Given the description of an element on the screen output the (x, y) to click on. 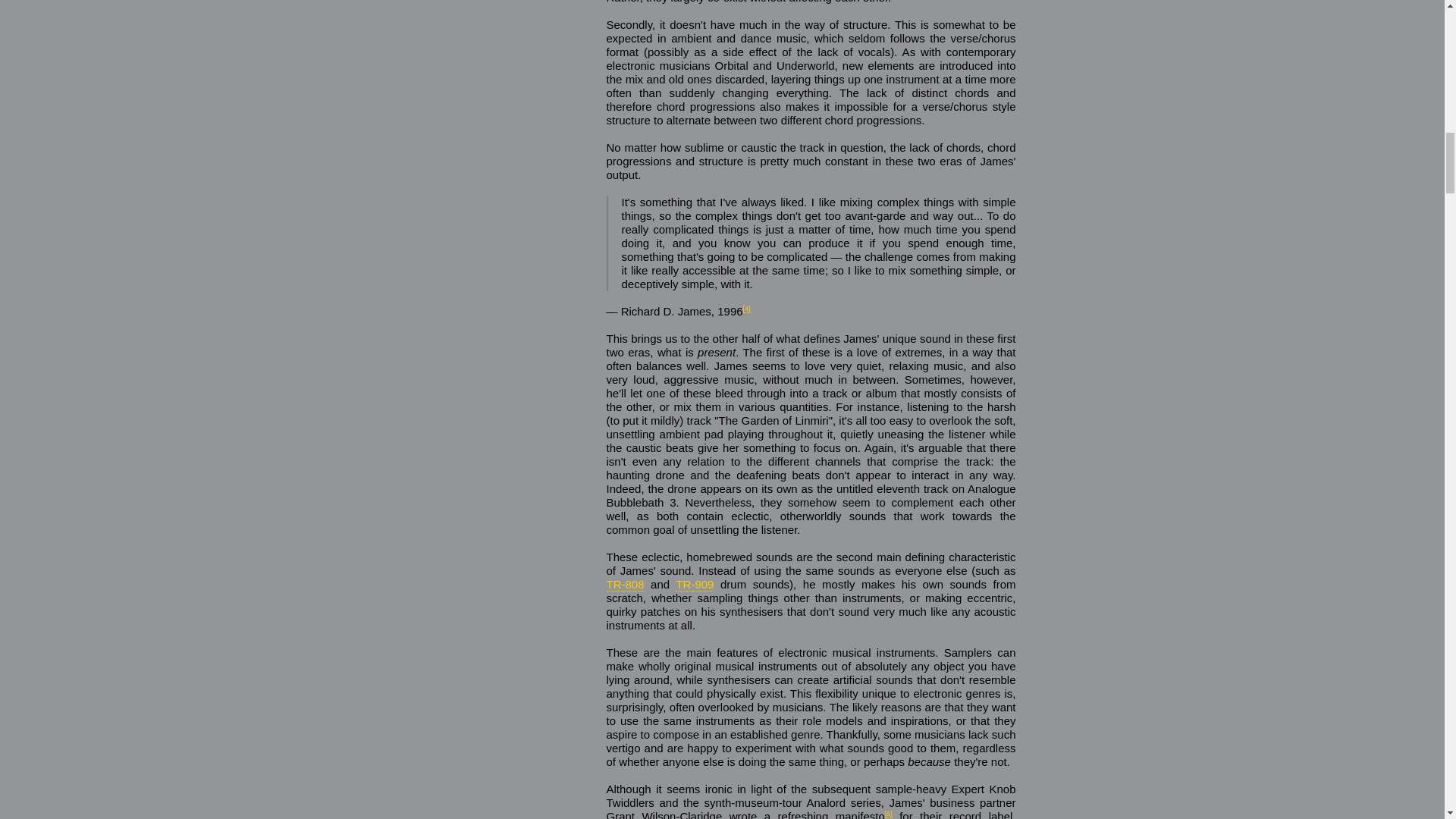
TR-808 (626, 584)
TR-909 (694, 584)
